Given the description of an element on the screen output the (x, y) to click on. 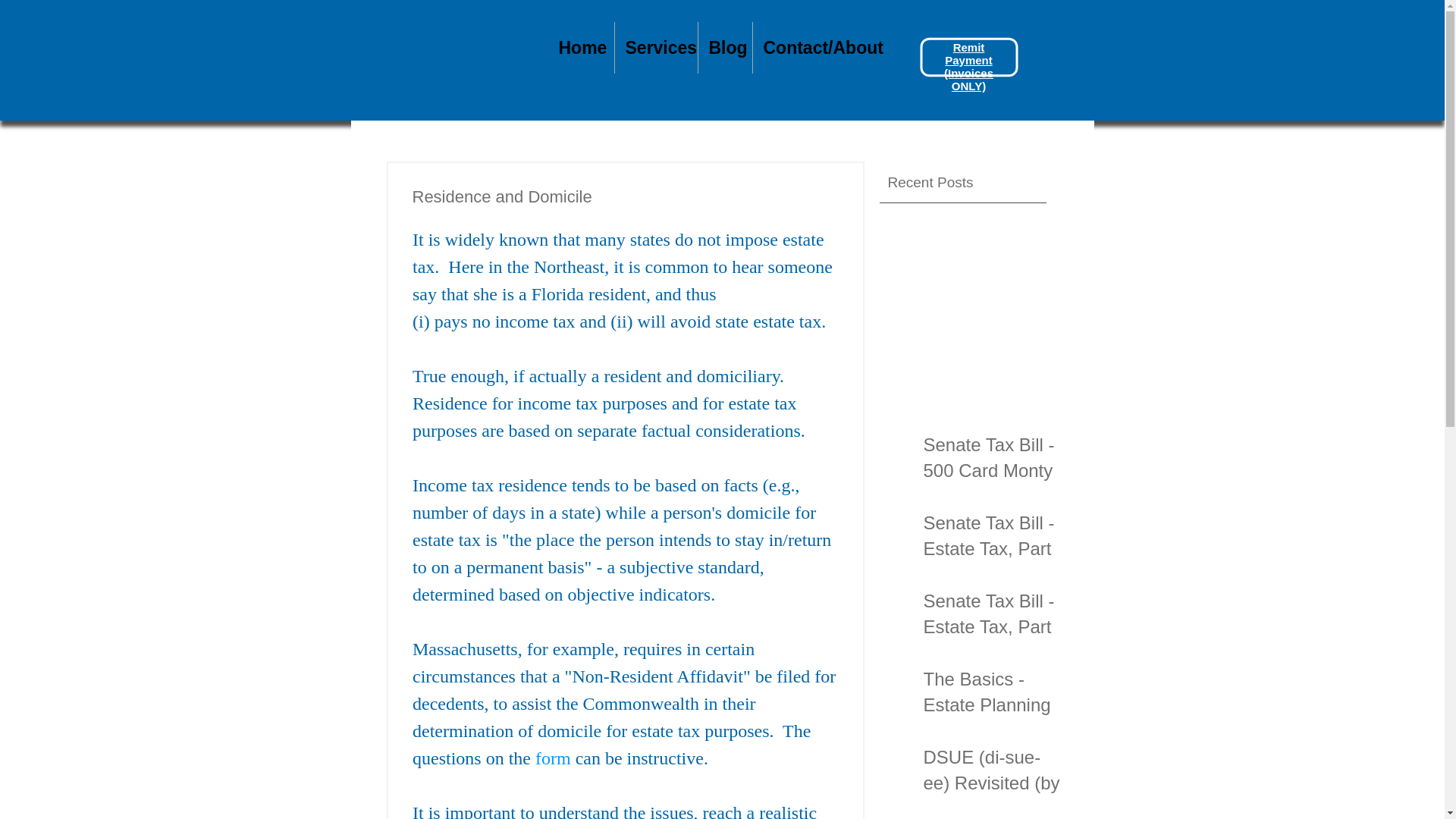
Blog (724, 47)
The Basics - Estate Planning (992, 694)
form (552, 758)
Home (579, 47)
